Given the description of an element on the screen output the (x, y) to click on. 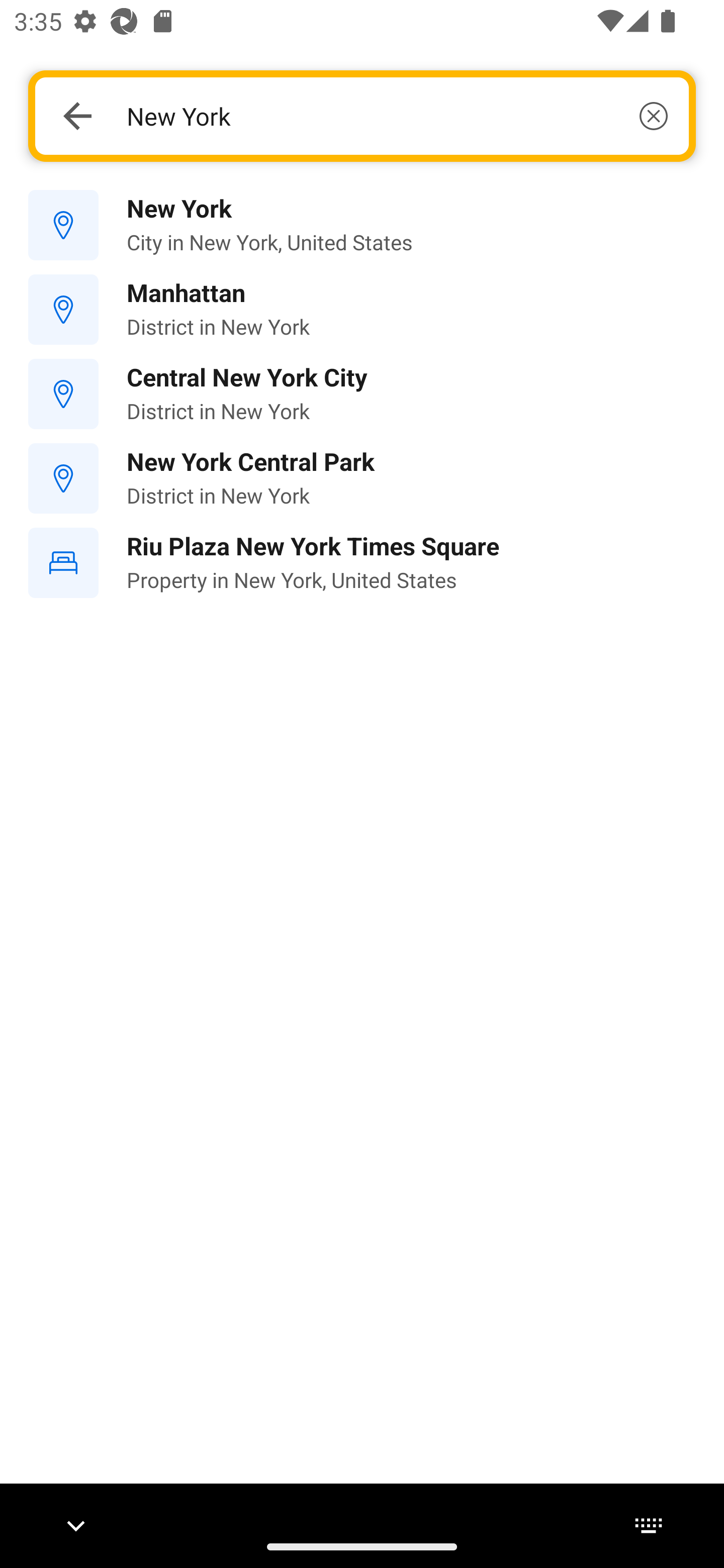
New York (396, 115)
New York City in New York, United States (362, 225)
Manhattan District in New York (362, 309)
Central New York City District in New York (362, 393)
New York Central Park District in New York (362, 477)
